Given the description of an element on the screen output the (x, y) to click on. 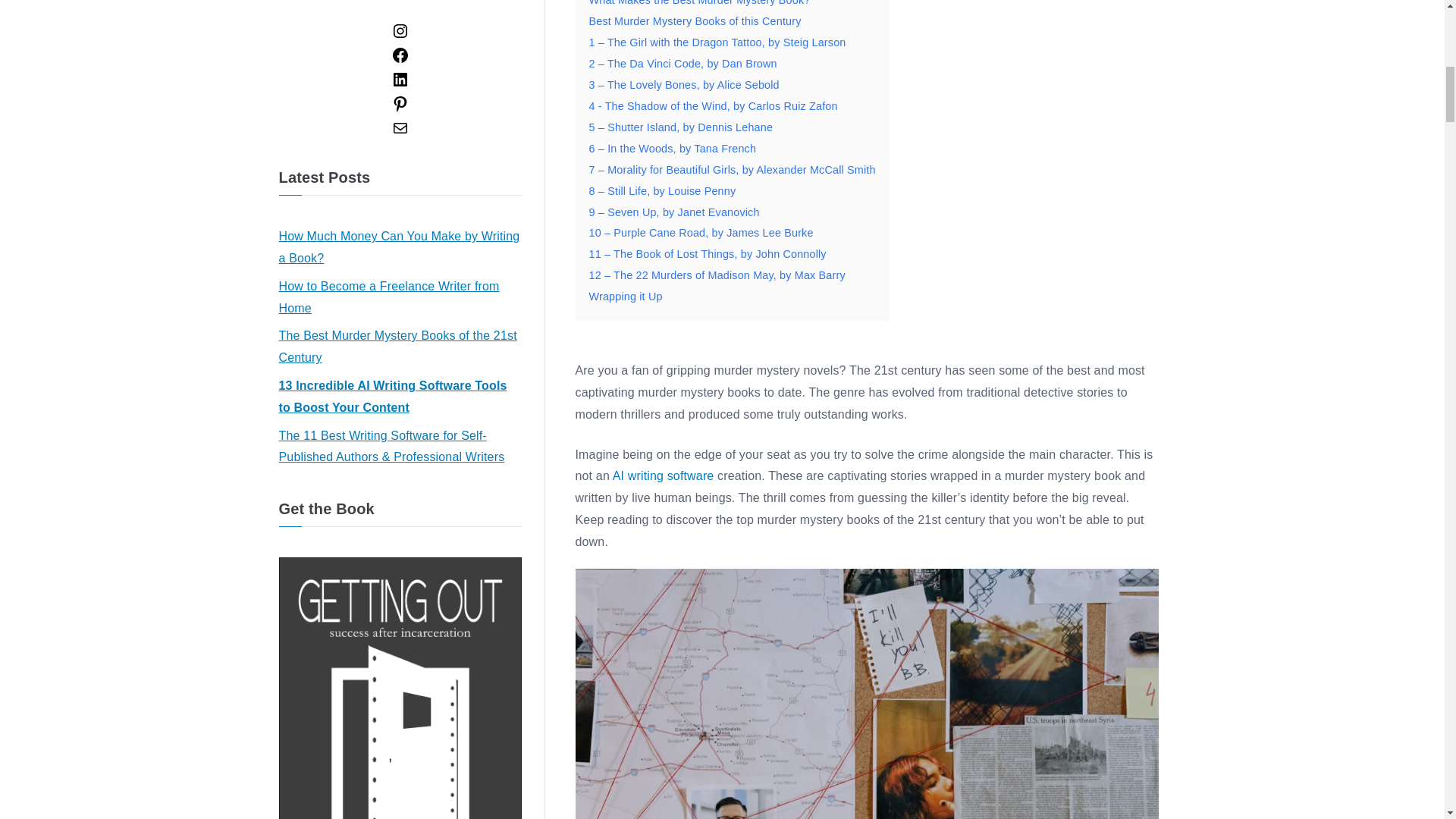
What Makes the Best Murder Mystery Book? (698, 2)
Wrapping it Up (625, 296)
AI writing software (663, 475)
4 - The Shadow of the Wind, by Carlos Ruiz Zafon (712, 105)
Best Murder Mystery Books of this Century (694, 21)
